Given the description of an element on the screen output the (x, y) to click on. 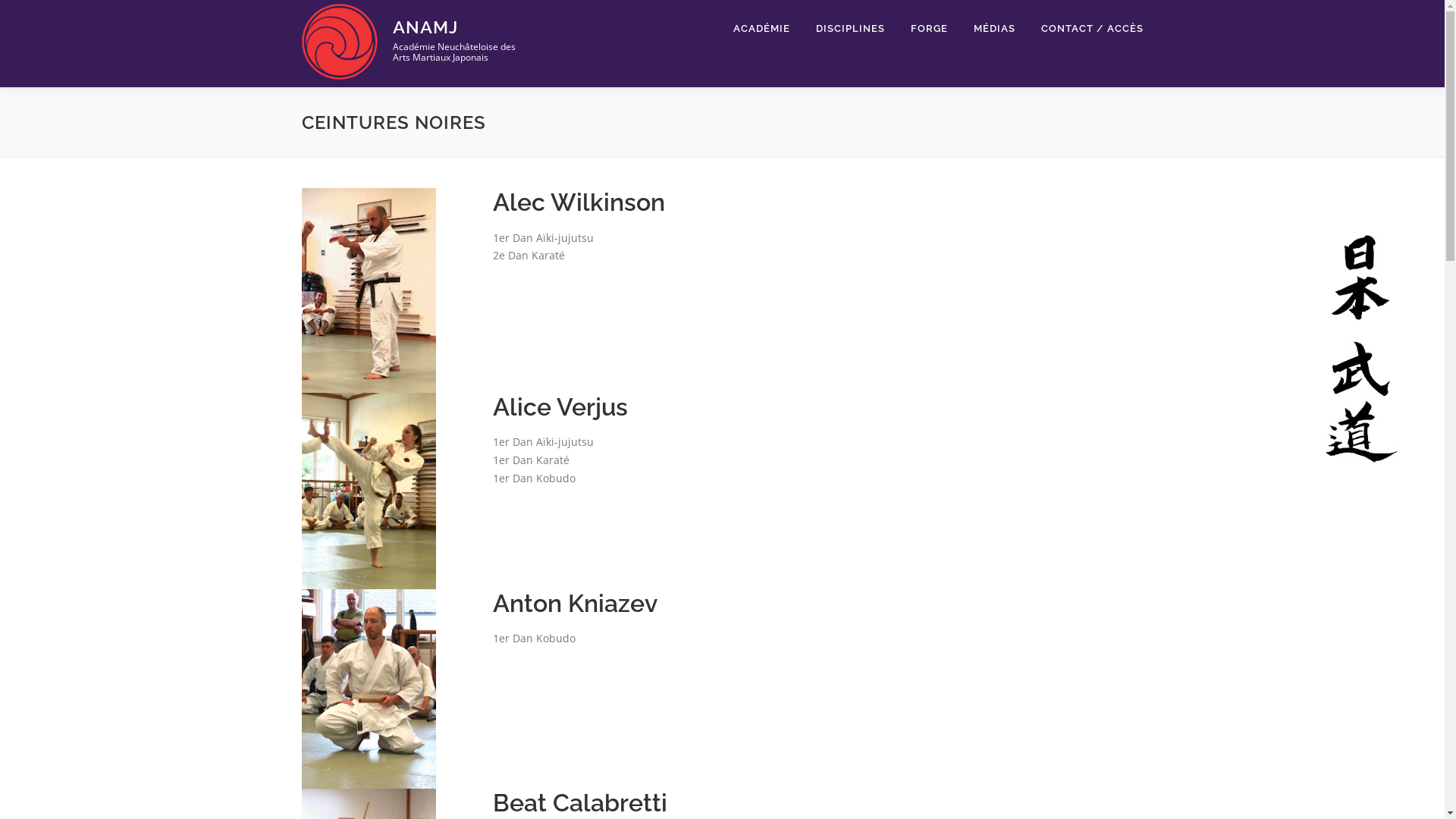
DISCIPLINES Element type: text (849, 28)
FORGE Element type: text (928, 28)
ANAMJ Element type: text (425, 26)
